Given the description of an element on the screen output the (x, y) to click on. 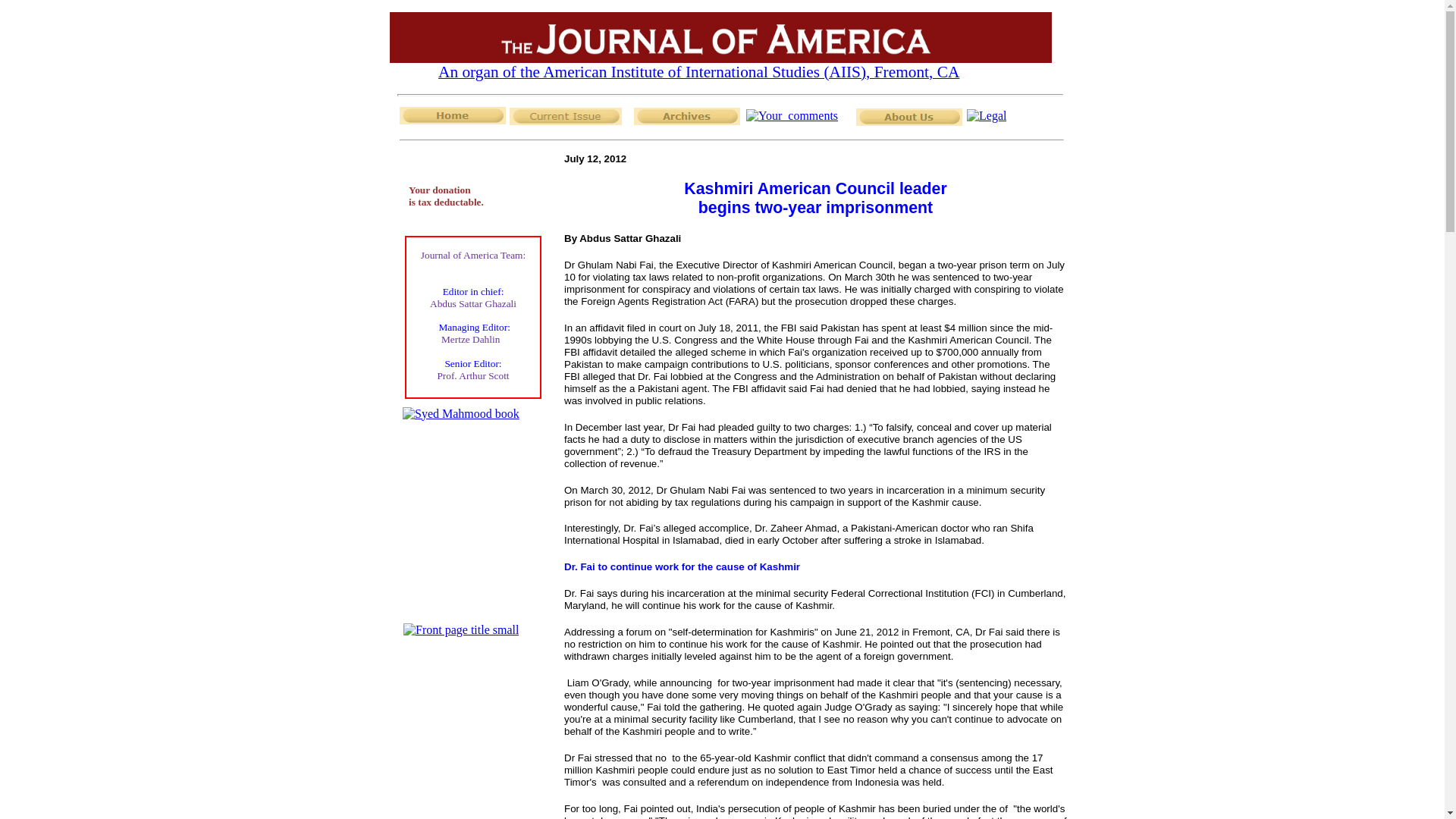
Legal (986, 115)
Home (451, 115)
JOA-F (720, 37)
Syed Mahmood book (461, 413)
Front page title small (460, 630)
Archives (686, 116)
